Given the description of an element on the screen output the (x, y) to click on. 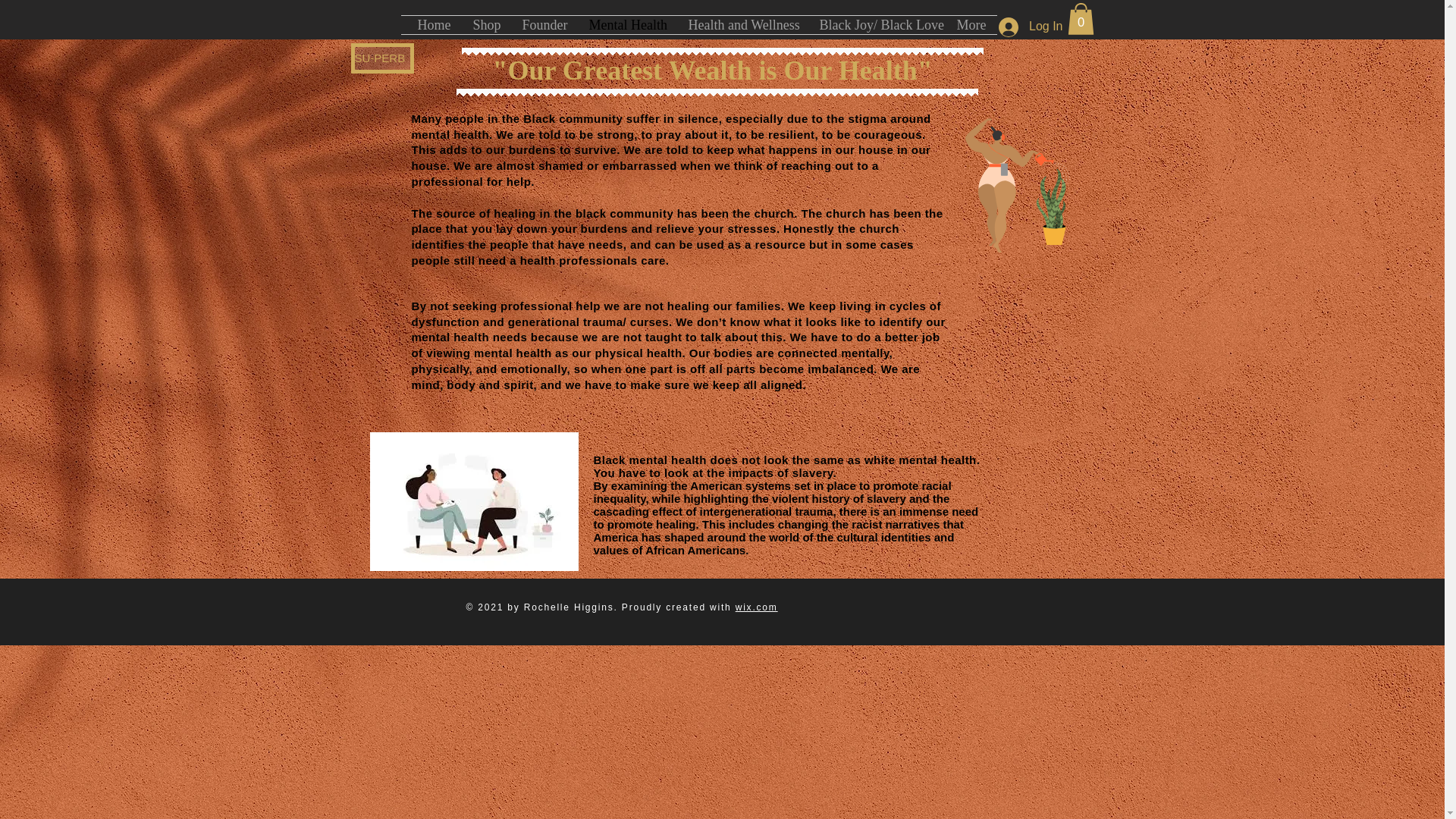
BLK Therapist.jpg (473, 501)
Home (433, 24)
Founder (544, 24)
Log In (1030, 26)
Shop (486, 24)
wix.com (756, 606)
SU-PERB (381, 58)
Health and Wellness (742, 24)
Mental Health (627, 24)
